Given the description of an element on the screen output the (x, y) to click on. 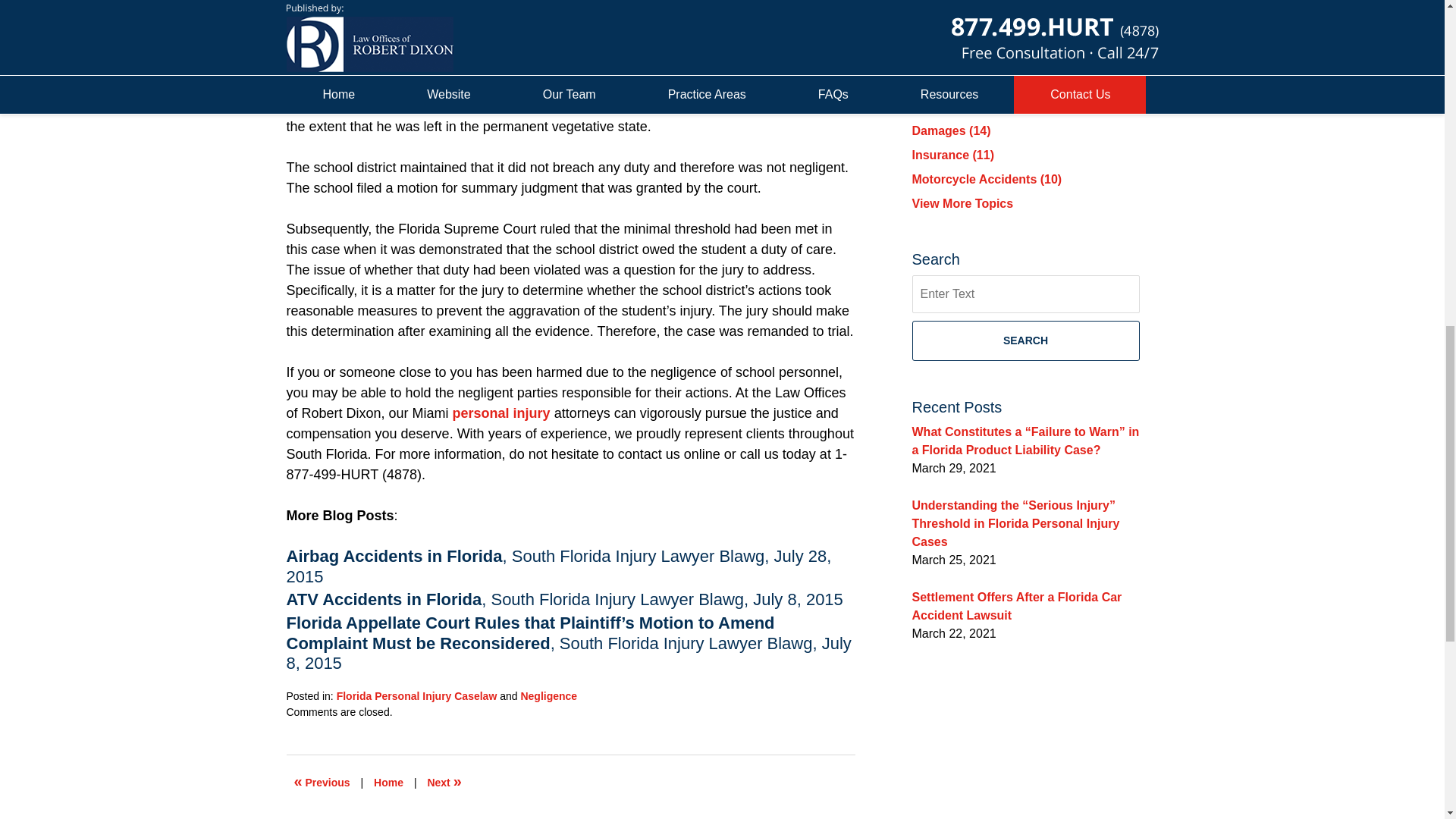
Home (388, 782)
View all posts in Florida Personal Injury Caselaw (416, 695)
personal injury (501, 412)
View all posts in Negligence (547, 695)
Elevator and Escalator Accidents in Florida (322, 782)
Falling Merchandise Injuries in Florida (443, 782)
Airbag Accidents in Florida (394, 556)
Negligence (547, 695)
ATV Accidents in Florida (383, 599)
Florida Personal Injury Caselaw (416, 695)
